Given the description of an element on the screen output the (x, y) to click on. 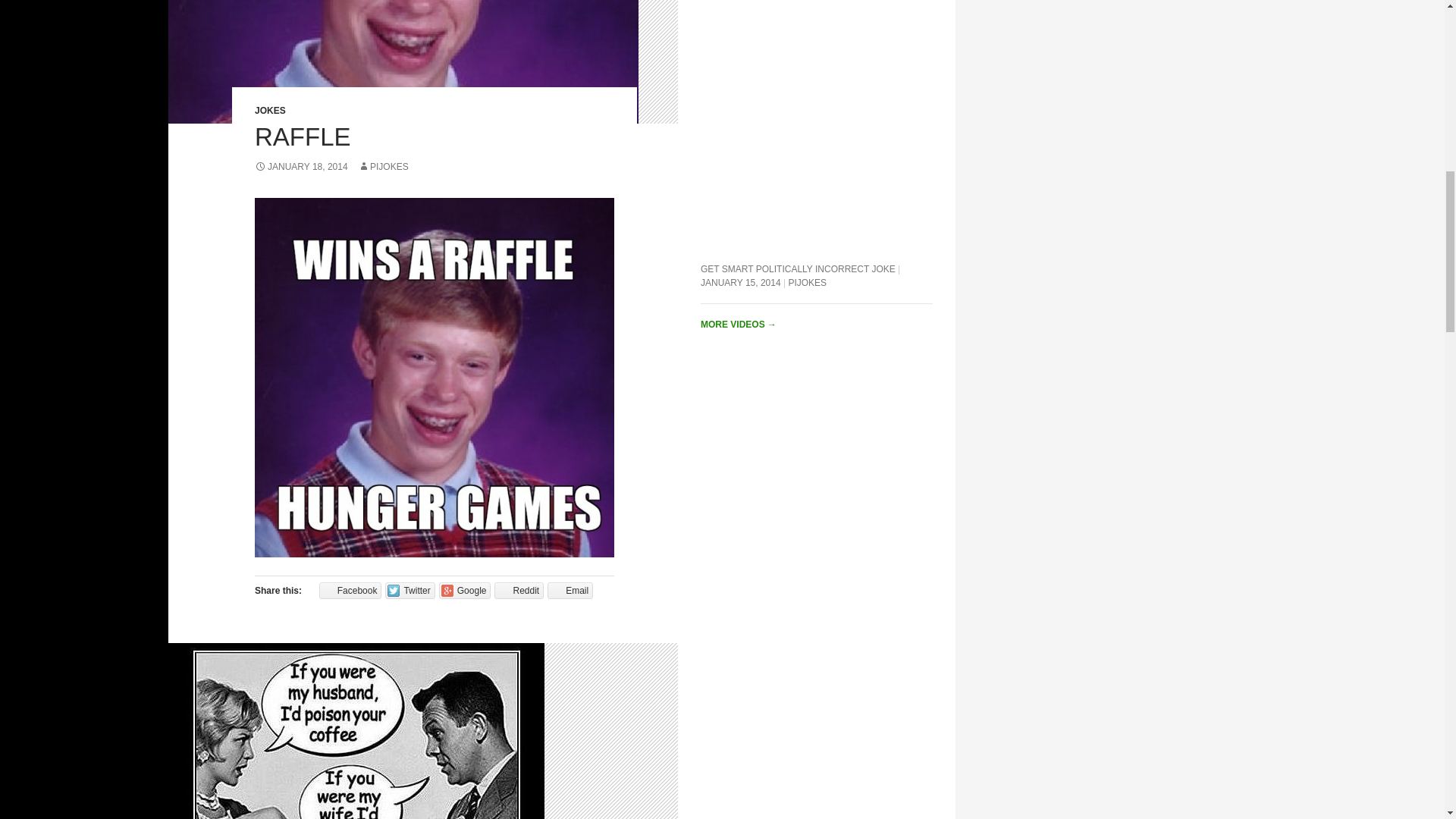
Enter email address (1346, 170)
Reddit (519, 590)
View all posts in Jokes (269, 110)
Click to share on Twitter (409, 590)
Email (569, 590)
Google (465, 590)
Click to email this to a friend (569, 590)
Sign me up! (1349, 198)
Twitter (409, 590)
JANUARY 18, 2014 (300, 166)
